Given the description of an element on the screen output the (x, y) to click on. 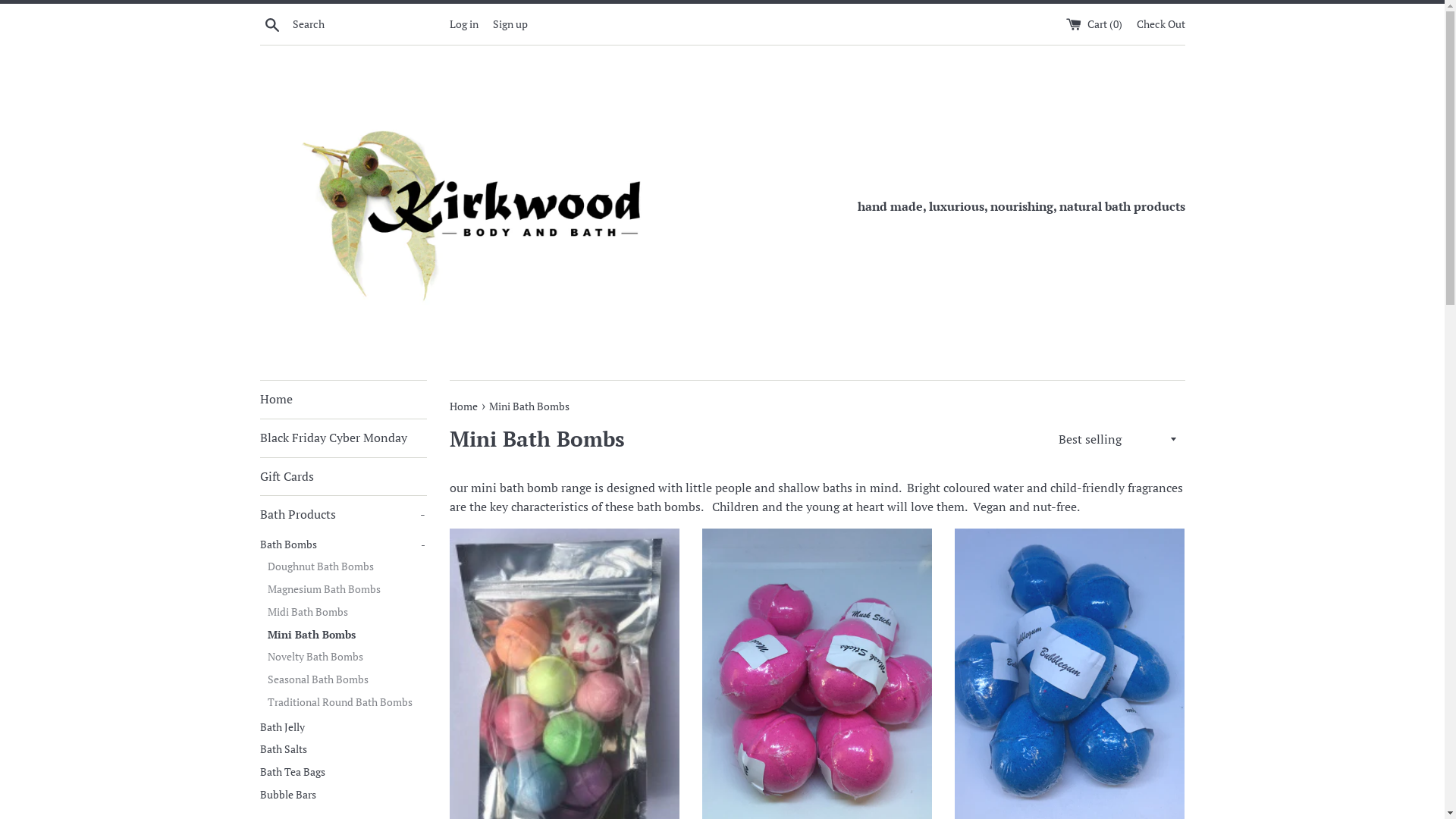
Bath Jelly Element type: text (342, 727)
Black Friday Cyber Monday Element type: text (342, 438)
Bubble Bars Element type: text (342, 795)
Bath Salts Element type: text (342, 749)
Mini Bath Bombs Element type: text (346, 635)
Log in Element type: text (462, 23)
Sign up Element type: text (509, 23)
Doughnut Bath Bombs Element type: text (346, 566)
Seasonal Bath Bombs Element type: text (346, 679)
Home Element type: text (463, 405)
Bath Tea Bags Element type: text (342, 772)
Search Element type: text (271, 23)
Cart (0) Element type: text (1095, 23)
Bath Products
- Element type: text (342, 514)
Magnesium Bath Bombs Element type: text (346, 589)
Gift Cards Element type: text (342, 476)
Home Element type: text (342, 399)
Traditional Round Bath Bombs Element type: text (346, 702)
Novelty Bath Bombs Element type: text (346, 657)
Check Out Element type: text (1159, 23)
Midi Bath Bombs Element type: text (346, 612)
Bath Bombs
- Element type: text (342, 544)
